Given the description of an element on the screen output the (x, y) to click on. 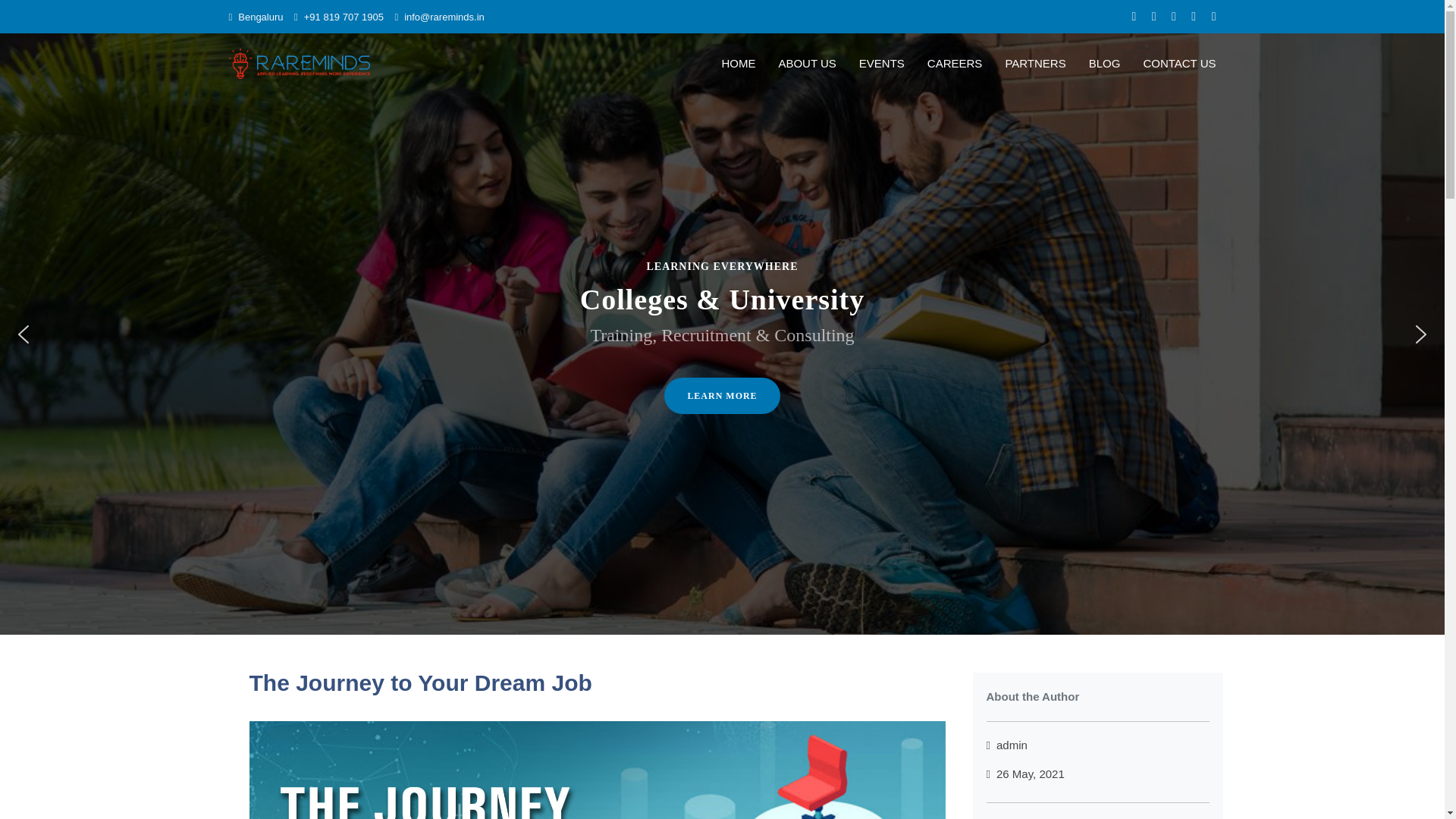
CONTACT US (1167, 63)
CAREERS (943, 63)
LEARN MORE (720, 395)
EVENTS (869, 63)
ABOUT US (795, 63)
HOME (726, 63)
PARTNERS (1023, 63)
BLOG (1093, 63)
